Given the description of an element on the screen output the (x, y) to click on. 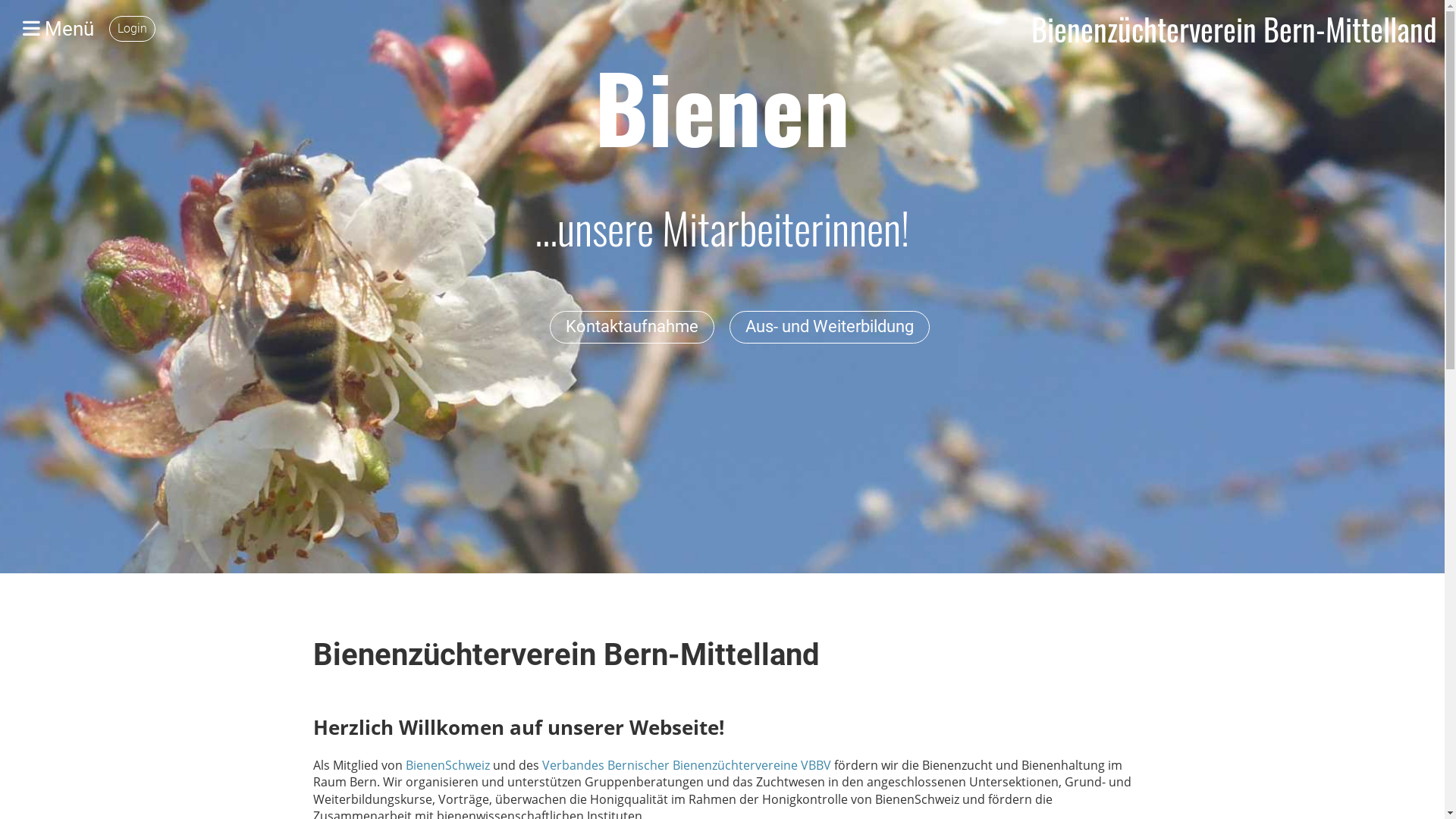
Login Element type: text (132, 28)
BienenSchweiz Element type: text (448, 764)
Kontaktaufnahme Element type: text (631, 326)
Aus- und Weiterbildung Element type: text (829, 326)
